Given the description of an element on the screen output the (x, y) to click on. 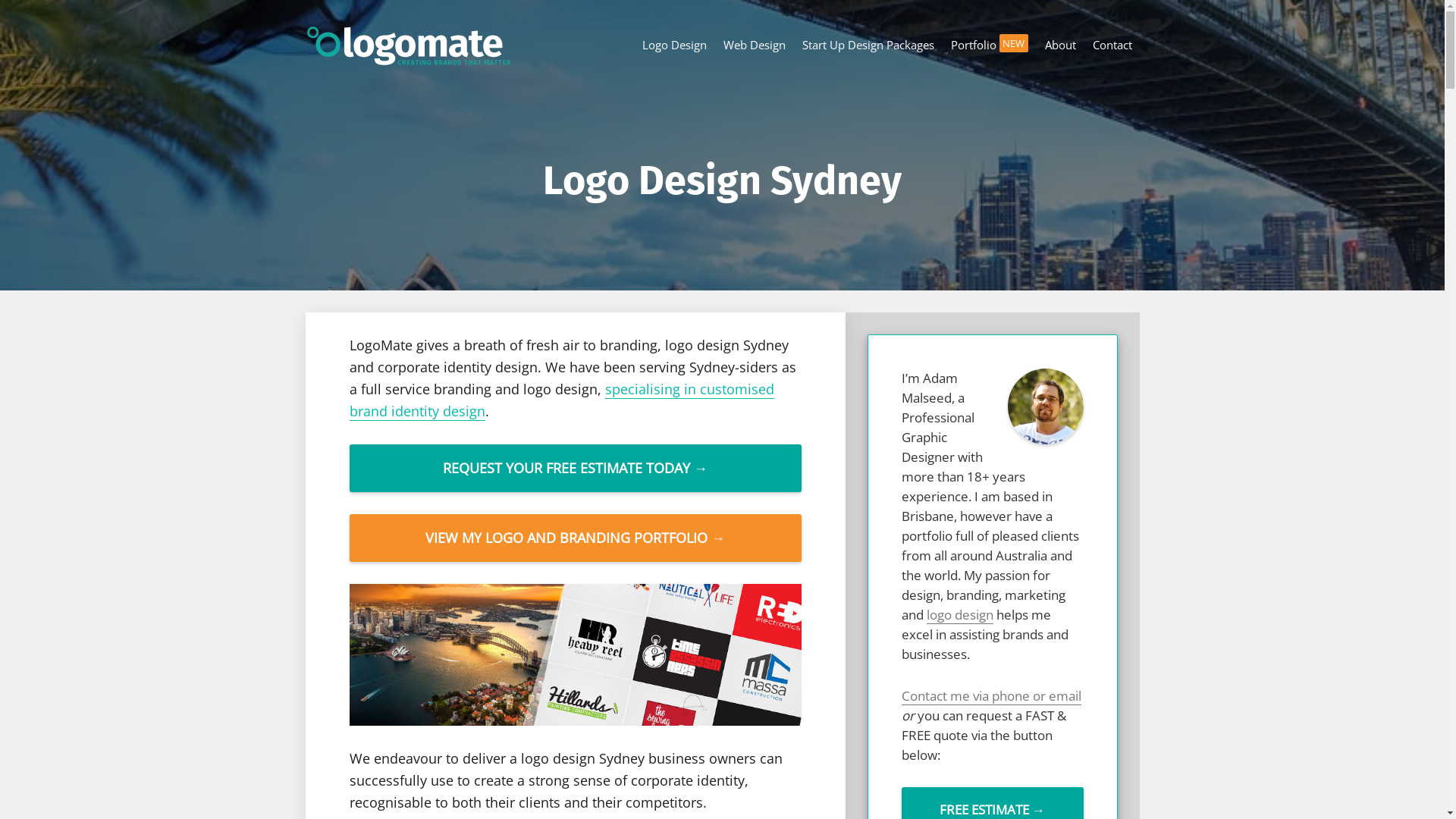
Start Up Design Packages Element type: text (868, 44)
Logo Design Element type: text (674, 44)
Web Design Element type: text (754, 44)
About Element type: text (1060, 44)
specialising in customised brand identity design Element type: text (560, 399)
Contact me via phone or email Element type: text (990, 696)
PortfolioNEW Element type: text (989, 45)
Contact Element type: text (1112, 44)
logo design Element type: text (959, 614)
